Given the description of an element on the screen output the (x, y) to click on. 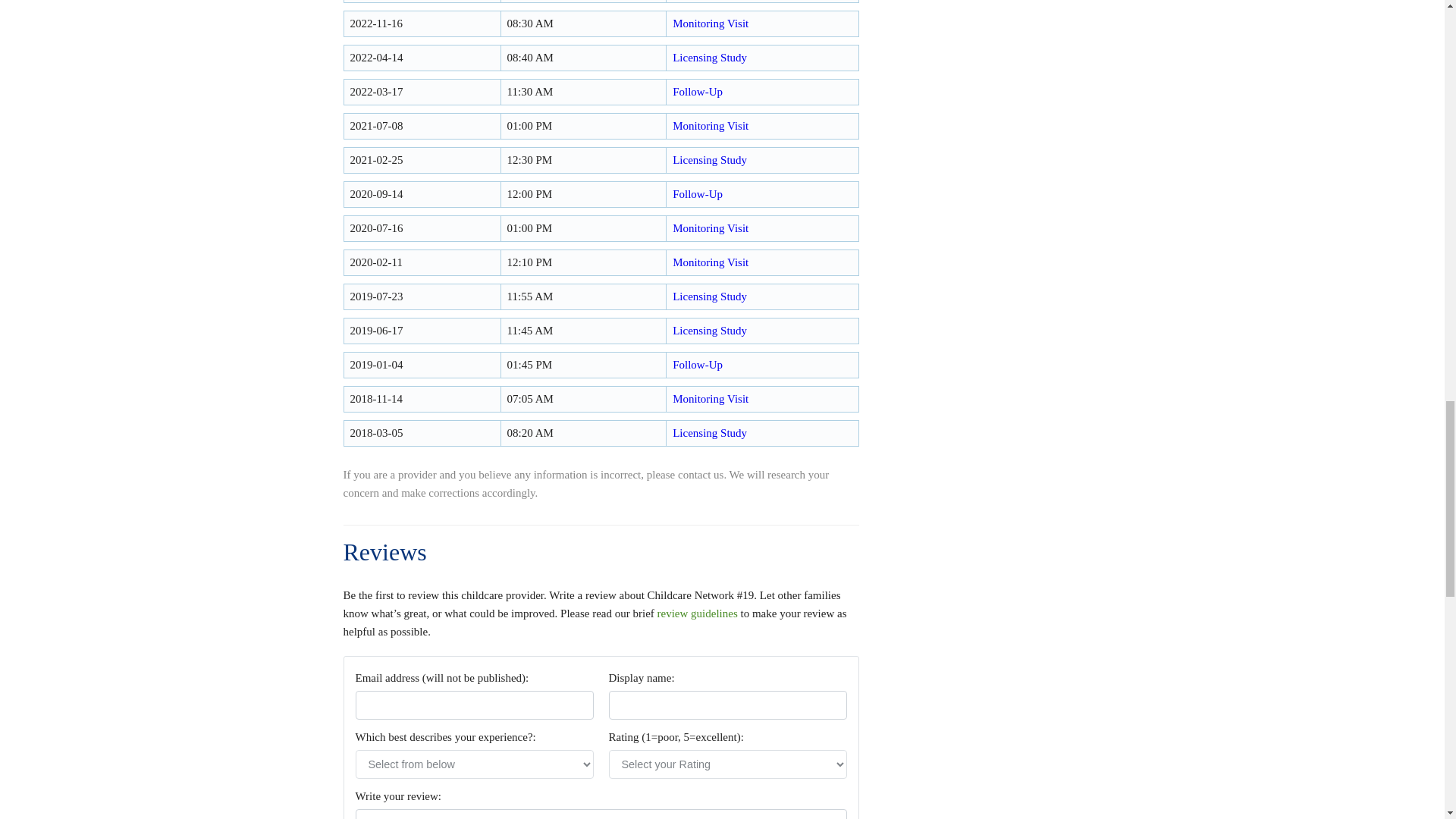
Monitoring Visit (710, 23)
Licensing Study (709, 159)
Licensing Study (709, 57)
Monitoring Visit (710, 125)
Follow-Up (697, 364)
Monitoring Visit (710, 227)
Follow-Up (697, 91)
Licensing Study (709, 330)
Monitoring Visit (710, 398)
Follow-Up (697, 193)
